Given the description of an element on the screen output the (x, y) to click on. 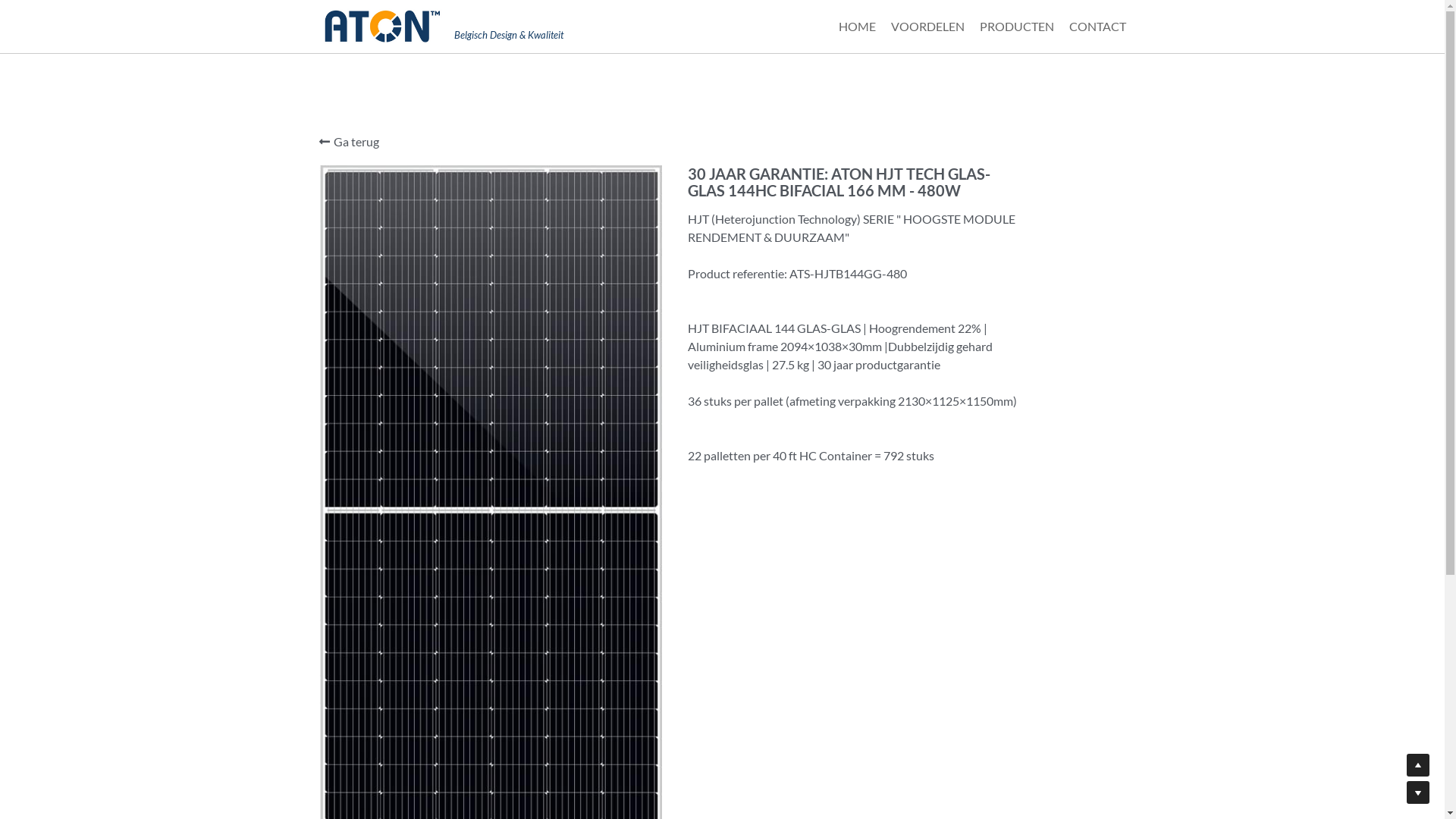
PRODUCTEN Element type: text (1016, 26)
CONTACT Element type: text (1097, 26)
VOORDELEN Element type: text (926, 26)
HOME Element type: text (856, 26)
